Given the description of an element on the screen output the (x, y) to click on. 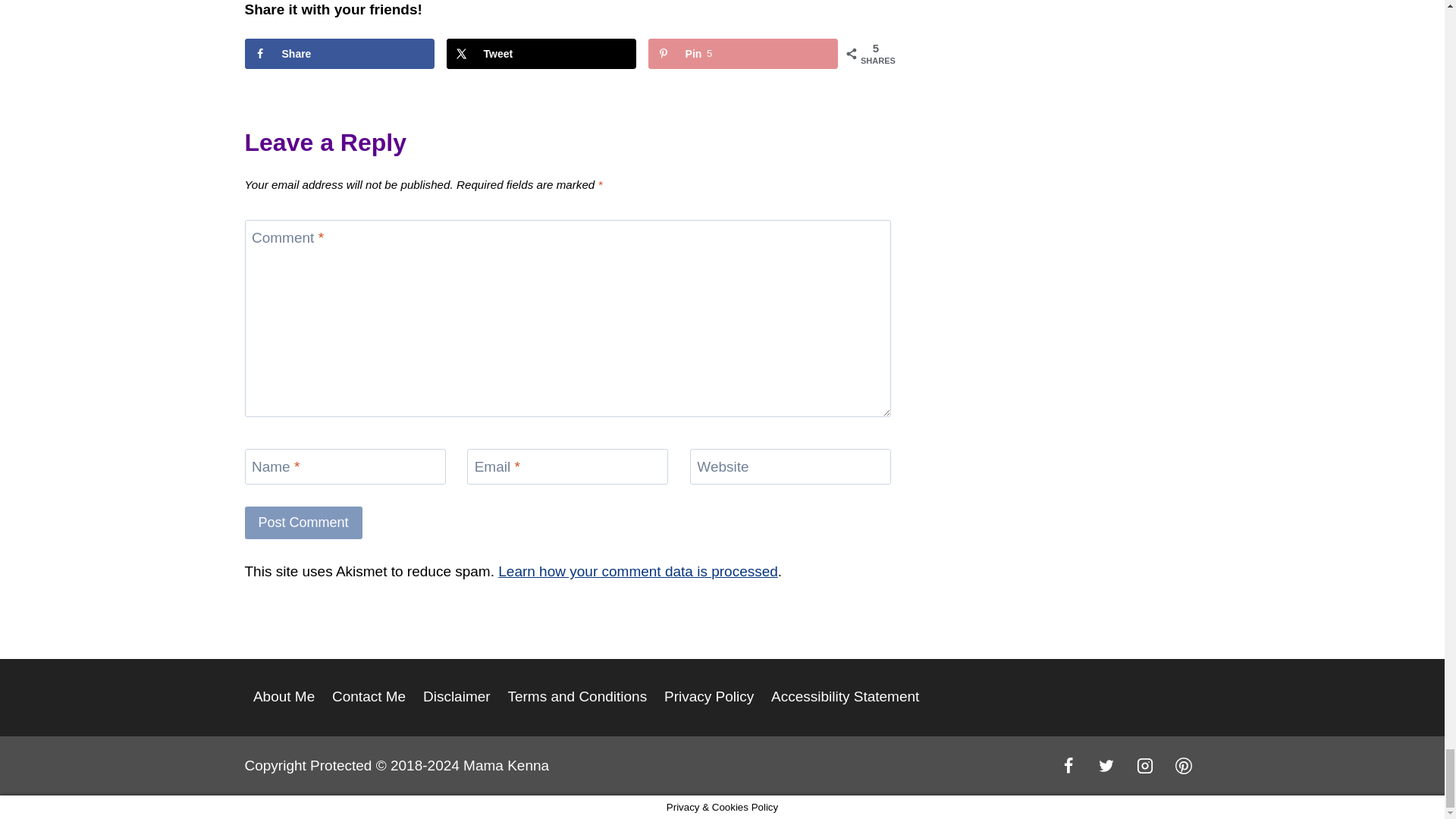
Share on Facebook (338, 53)
Save to Pinterest (742, 53)
Share on X (541, 53)
Post Comment (302, 522)
